Given the description of an element on the screen output the (x, y) to click on. 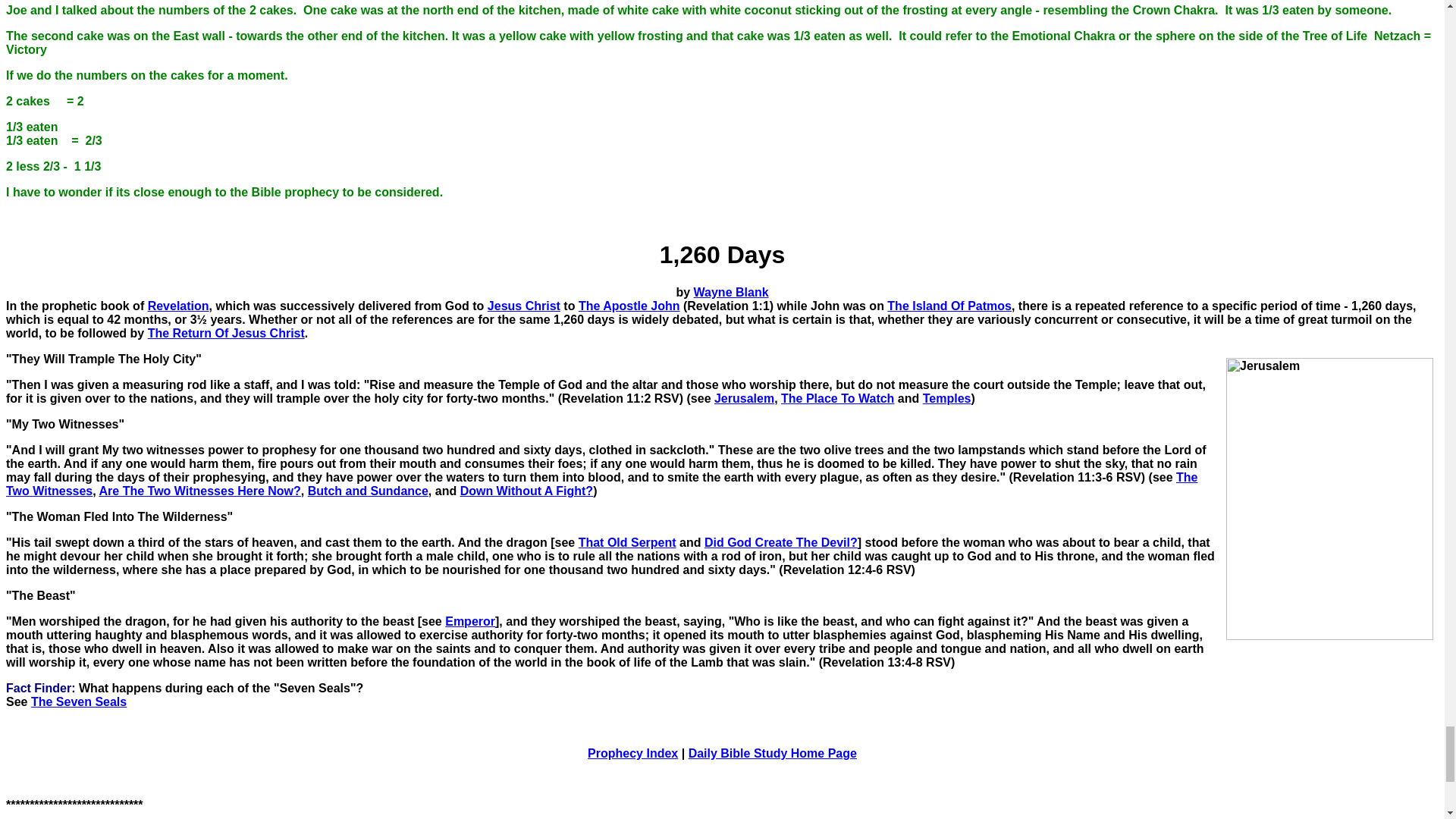
The Place To Watch (836, 398)
Revelation (178, 305)
Temples (947, 398)
The Island Of Patmos (948, 305)
Jerusalem (744, 398)
The Return Of Jesus Christ (226, 332)
Jesus Christ (523, 305)
The Apostle John (628, 305)
Wayne Blank (731, 291)
